Given the description of an element on the screen output the (x, y) to click on. 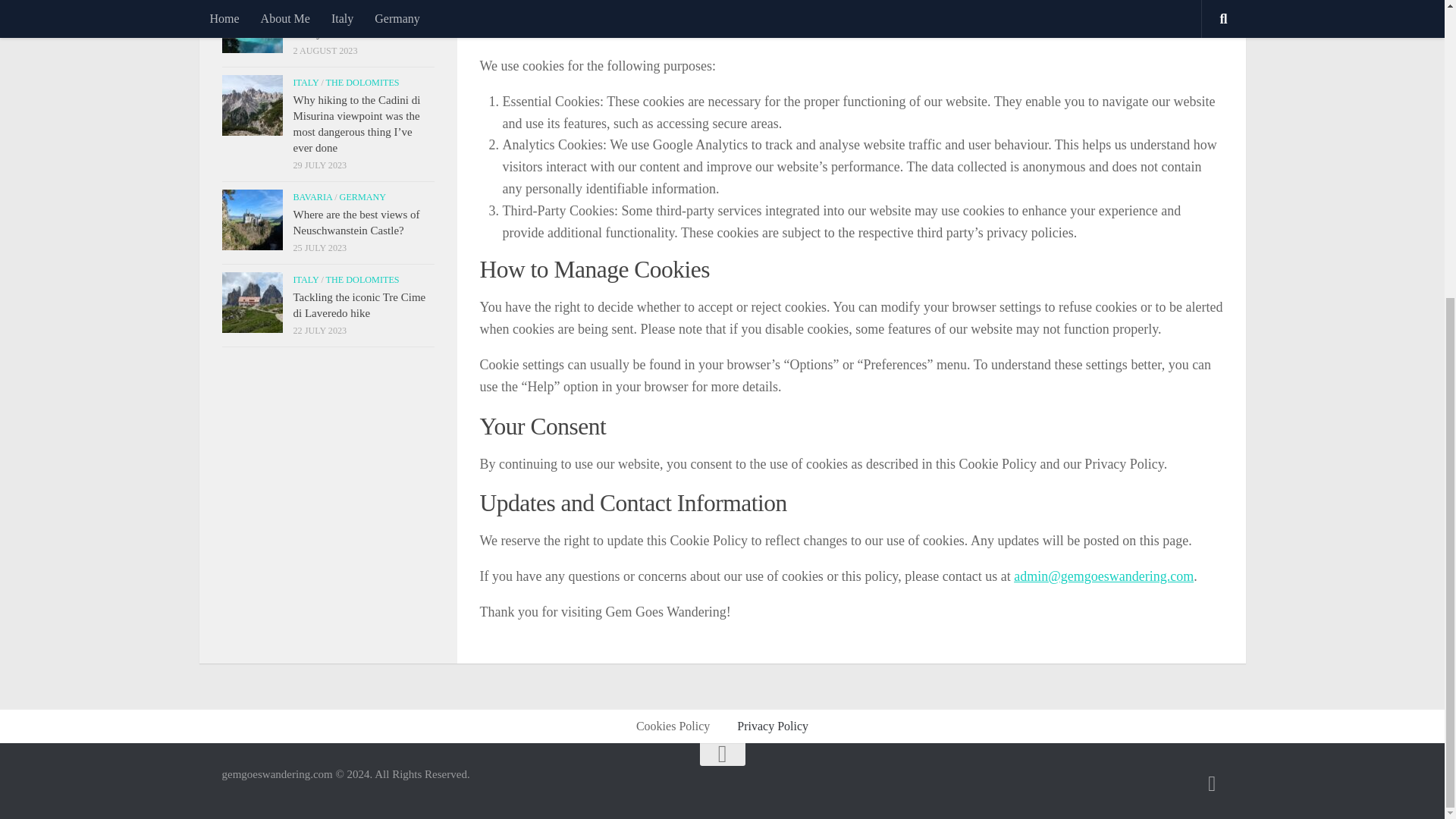
Follow us on Tiktok (1212, 783)
GERMANY (363, 196)
THE DOLOMITES (362, 2)
ITALY (305, 2)
THE DOLOMITES (362, 81)
BAVARIA (311, 196)
ITALY (305, 81)
Where are the best views of Neuschwanstein Castle? (355, 222)
